Given the description of an element on the screen output the (x, y) to click on. 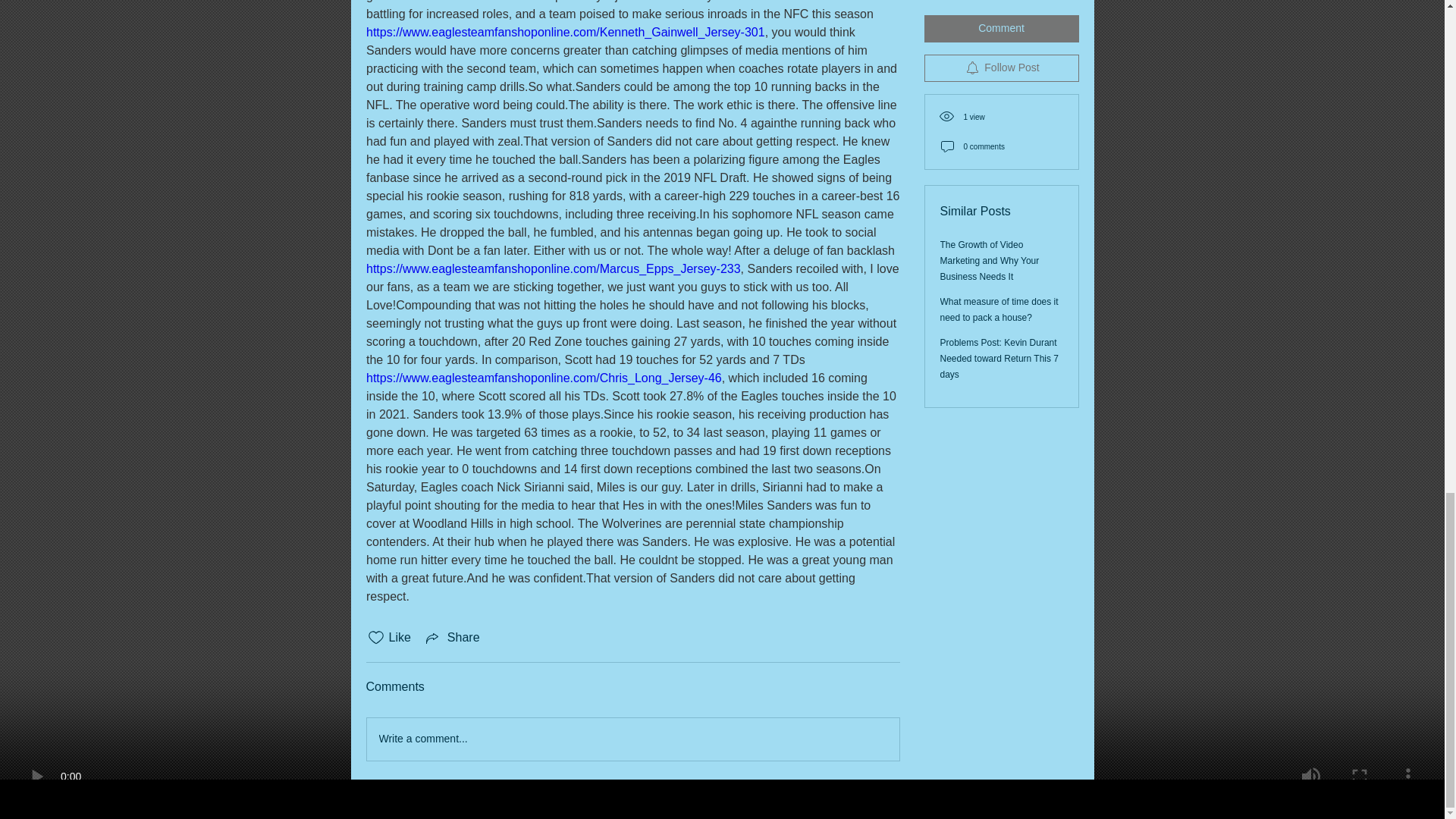
Write a comment... (632, 739)
Share (451, 637)
